Given the description of an element on the screen output the (x, y) to click on. 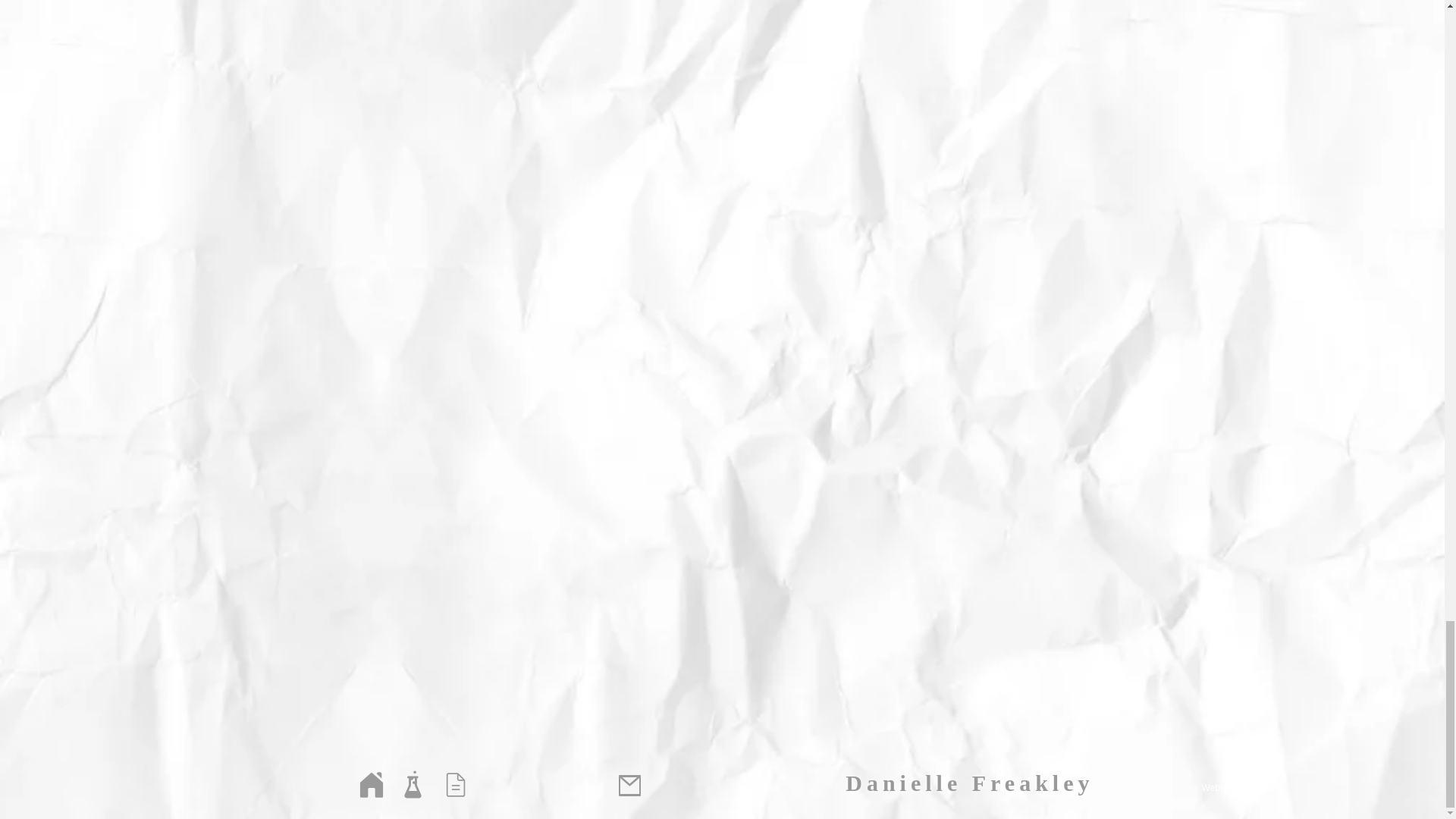
Webmaster Login (1237, 788)
